Given the description of an element on the screen output the (x, y) to click on. 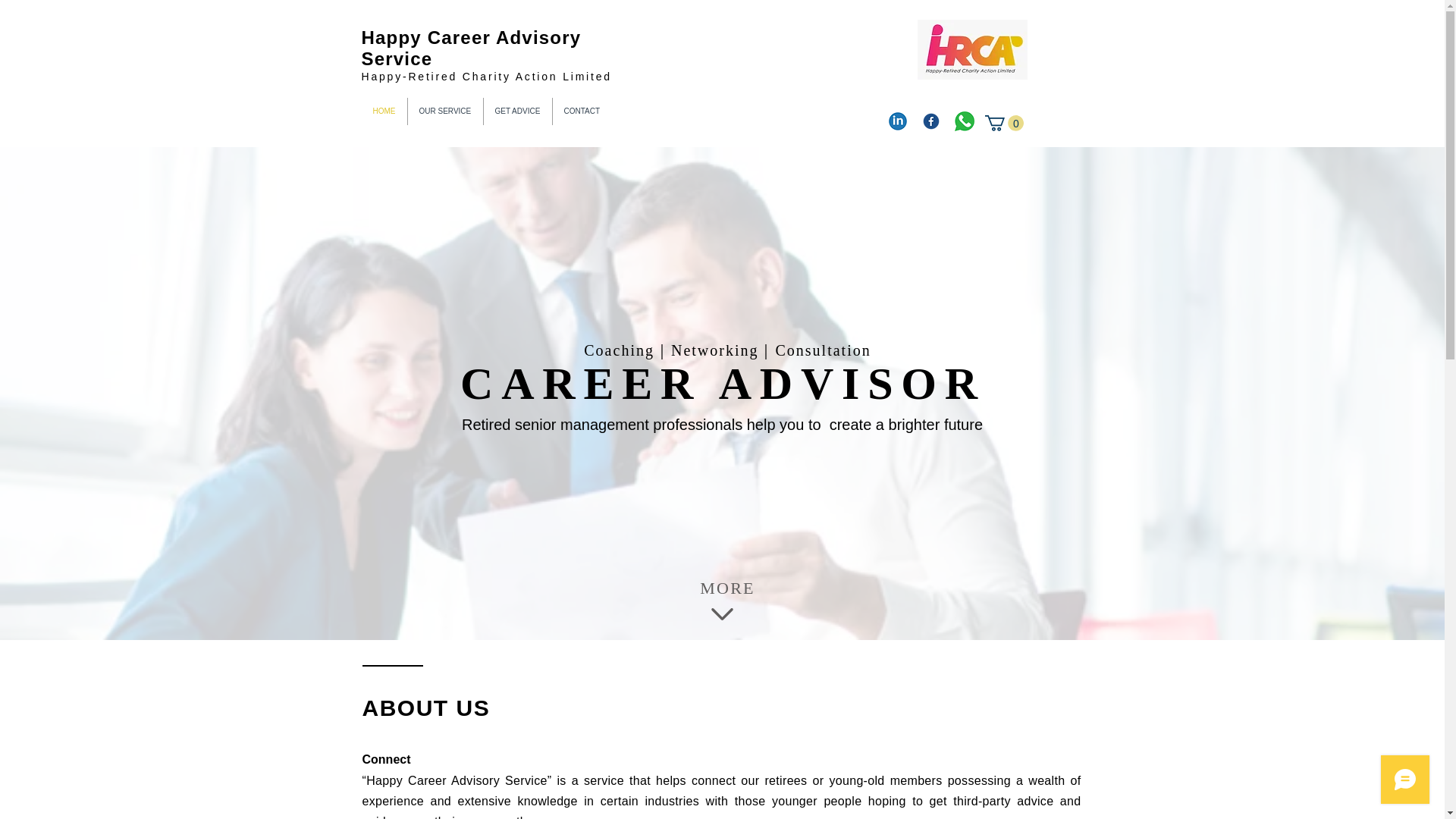
Happy Career Advisory Service (470, 47)
Happy-Retired Charity Action Limited (486, 76)
CONTACT (581, 111)
OUR SERVICE (445, 111)
HOME (383, 111)
GET ADVICE (517, 111)
0 (1003, 123)
0 (1003, 123)
